Given the description of an element on the screen output the (x, y) to click on. 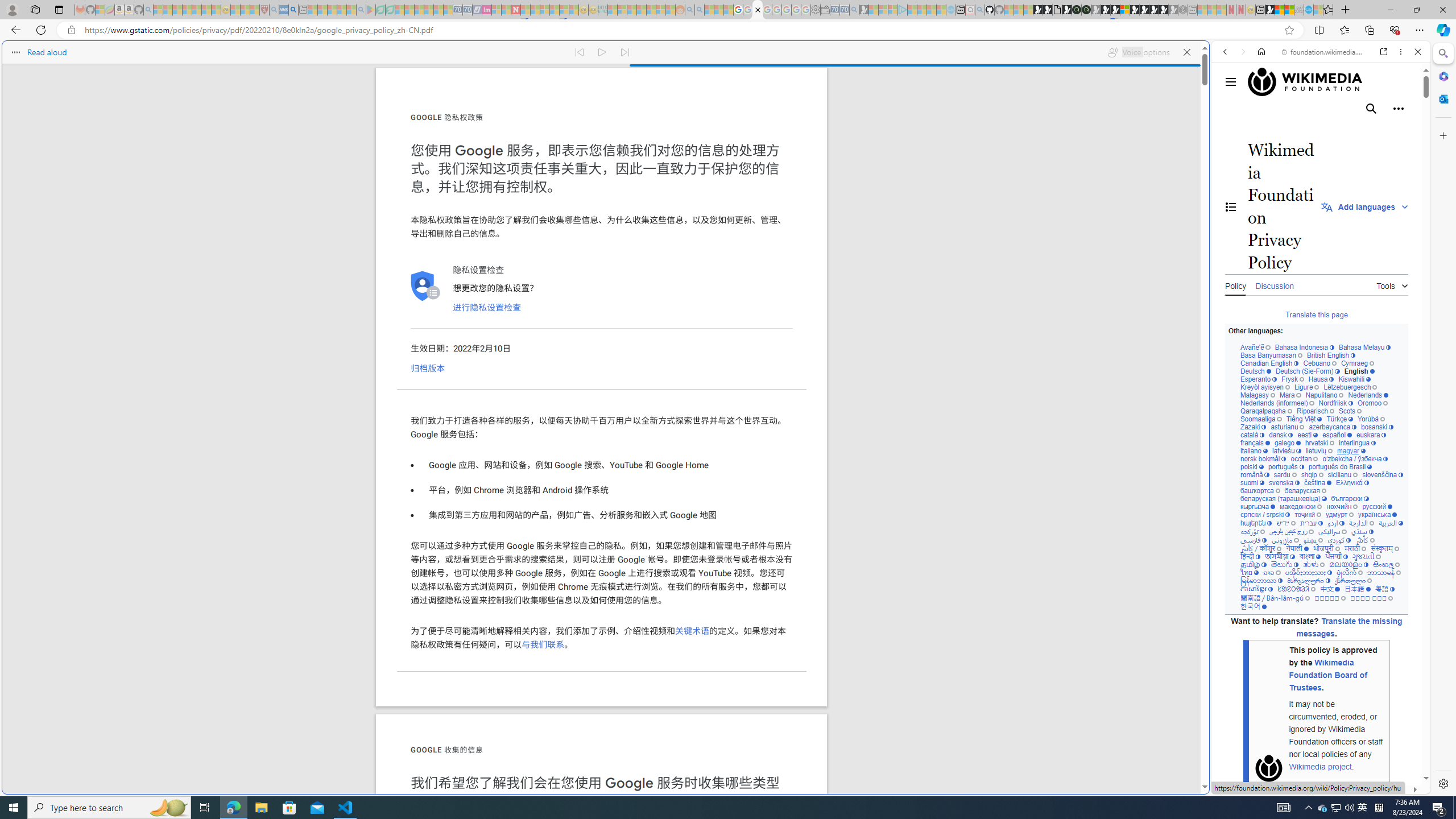
Canadian English (1269, 363)
svenska (1284, 483)
English (1358, 371)
eesti (1307, 434)
euskara (1370, 434)
Earth has six continents not seven, radical new study claims (1288, 9)
